Given the description of an element on the screen output the (x, y) to click on. 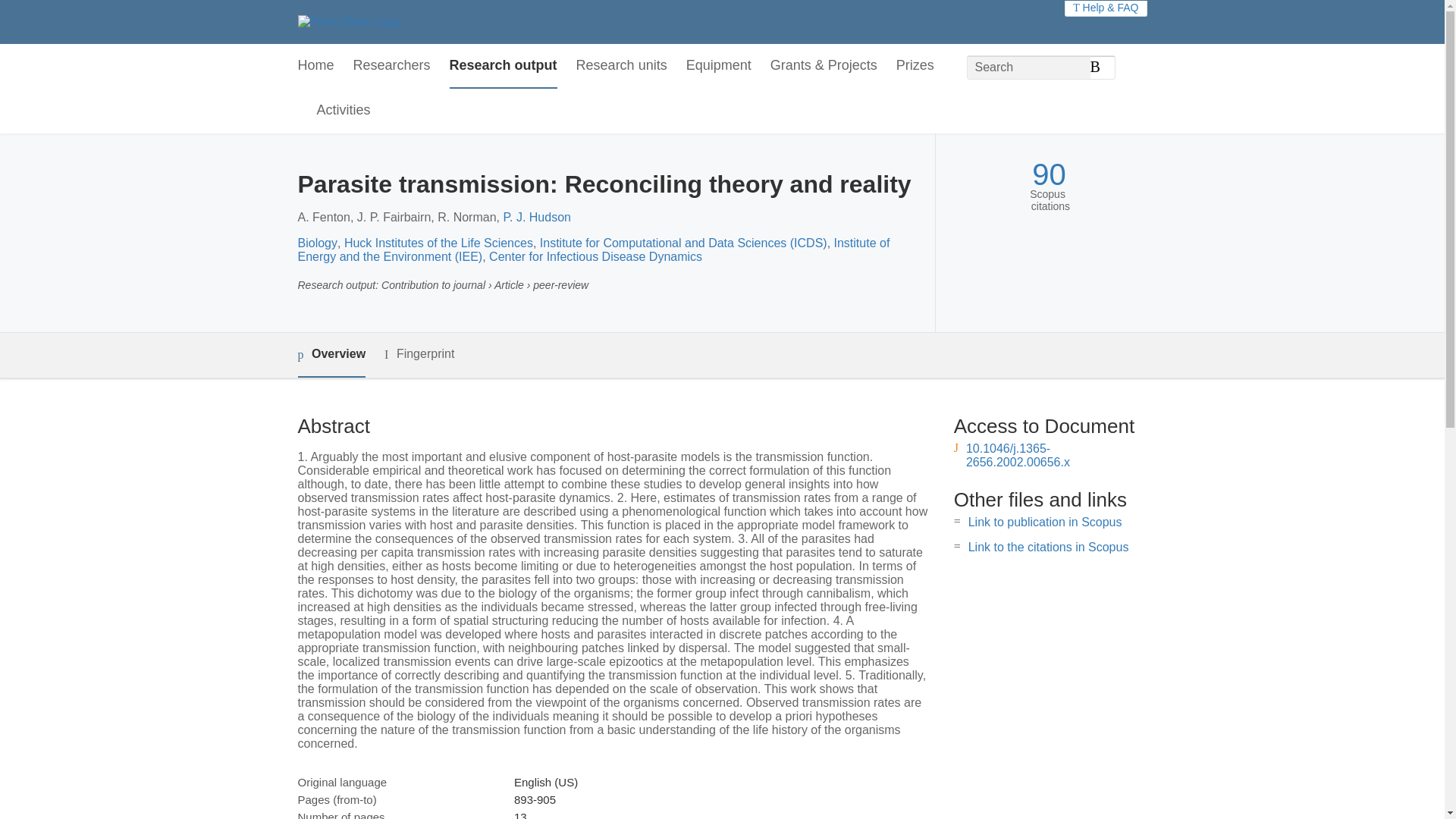
Huck Institutes of the Life Sciences (437, 242)
Fingerprint (419, 353)
Equipment (718, 66)
Overview (331, 354)
90 (1048, 174)
Activities (344, 110)
Link to publication in Scopus (1045, 521)
Research output (503, 66)
Biology (316, 242)
